Given the description of an element on the screen output the (x, y) to click on. 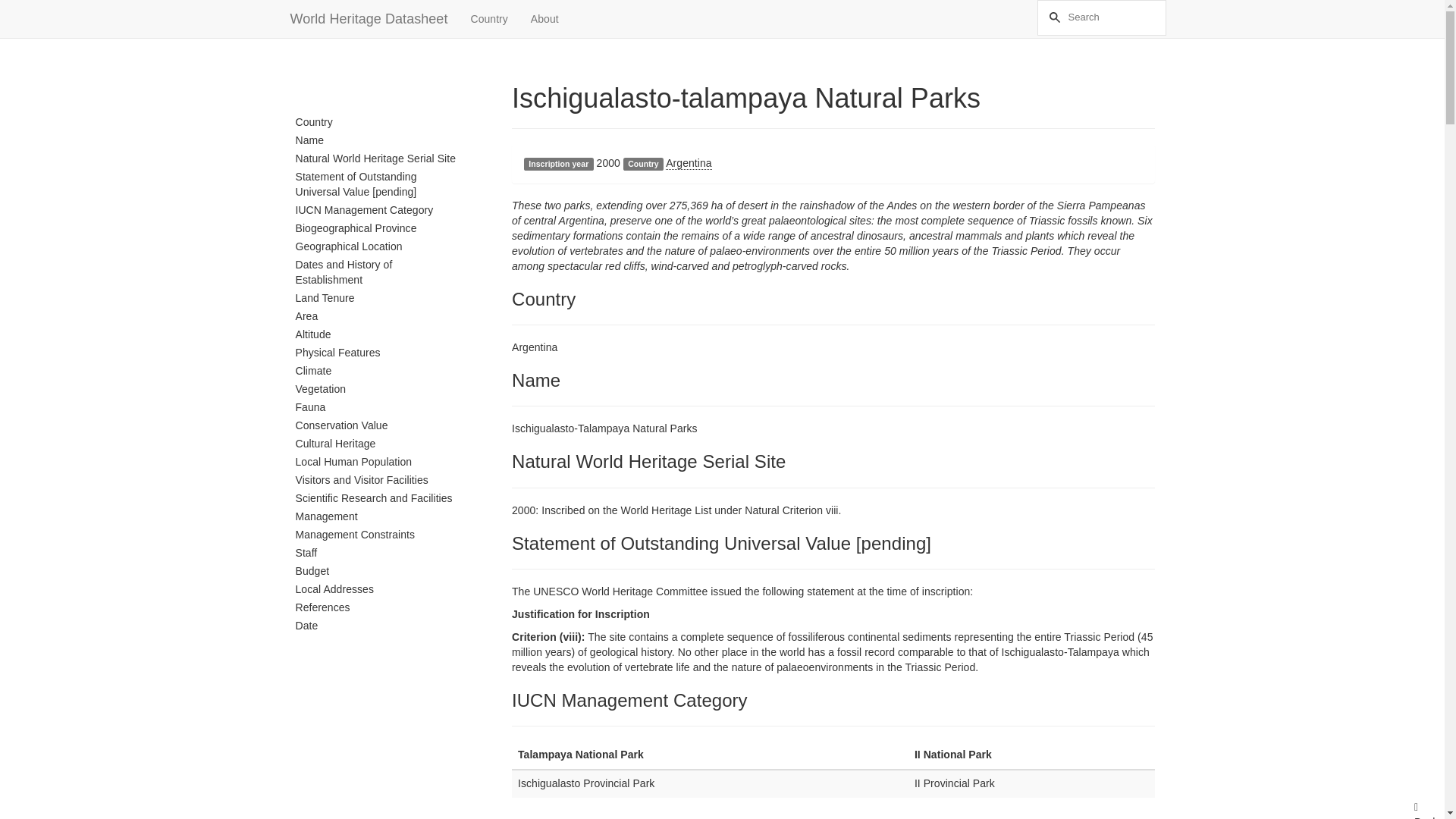
Geographical Location (378, 247)
Date (378, 626)
Management Constraints (378, 535)
PHYSICAL FEATURES (378, 352)
Land Tenure (378, 298)
Argentina (688, 163)
LAND TENURE (378, 298)
About (544, 18)
Budget (378, 571)
Name (378, 140)
